Given the description of an element on the screen output the (x, y) to click on. 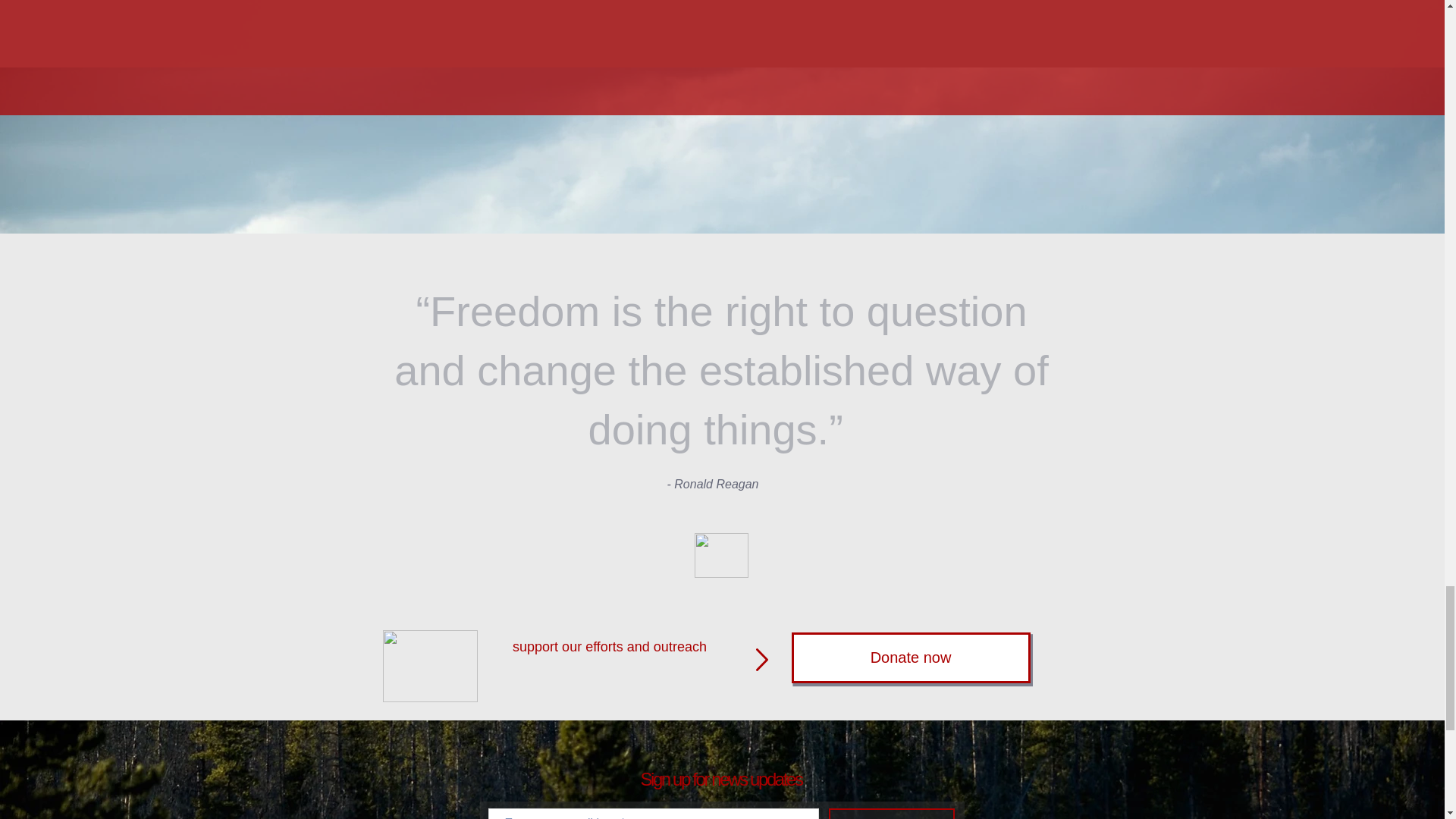
Donate now (911, 657)
SUBSCRIBE (890, 813)
